Given the description of an element on the screen output the (x, y) to click on. 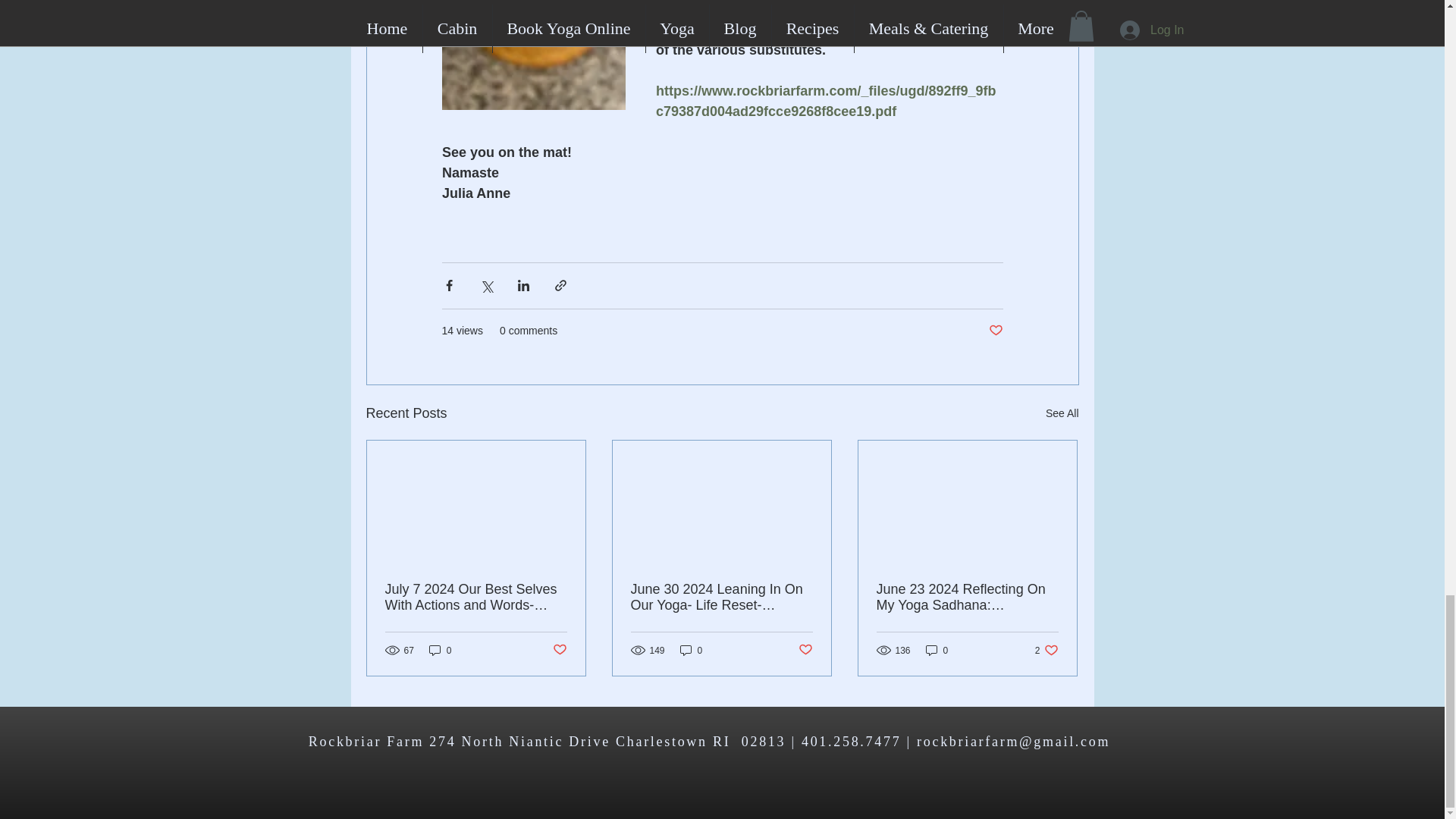
Post not marked as liked (995, 330)
Post not marked as liked (558, 650)
0 (937, 649)
See All (1046, 649)
0 (1061, 413)
Post not marked as liked (691, 649)
0 (804, 650)
